Given the description of an element on the screen output the (x, y) to click on. 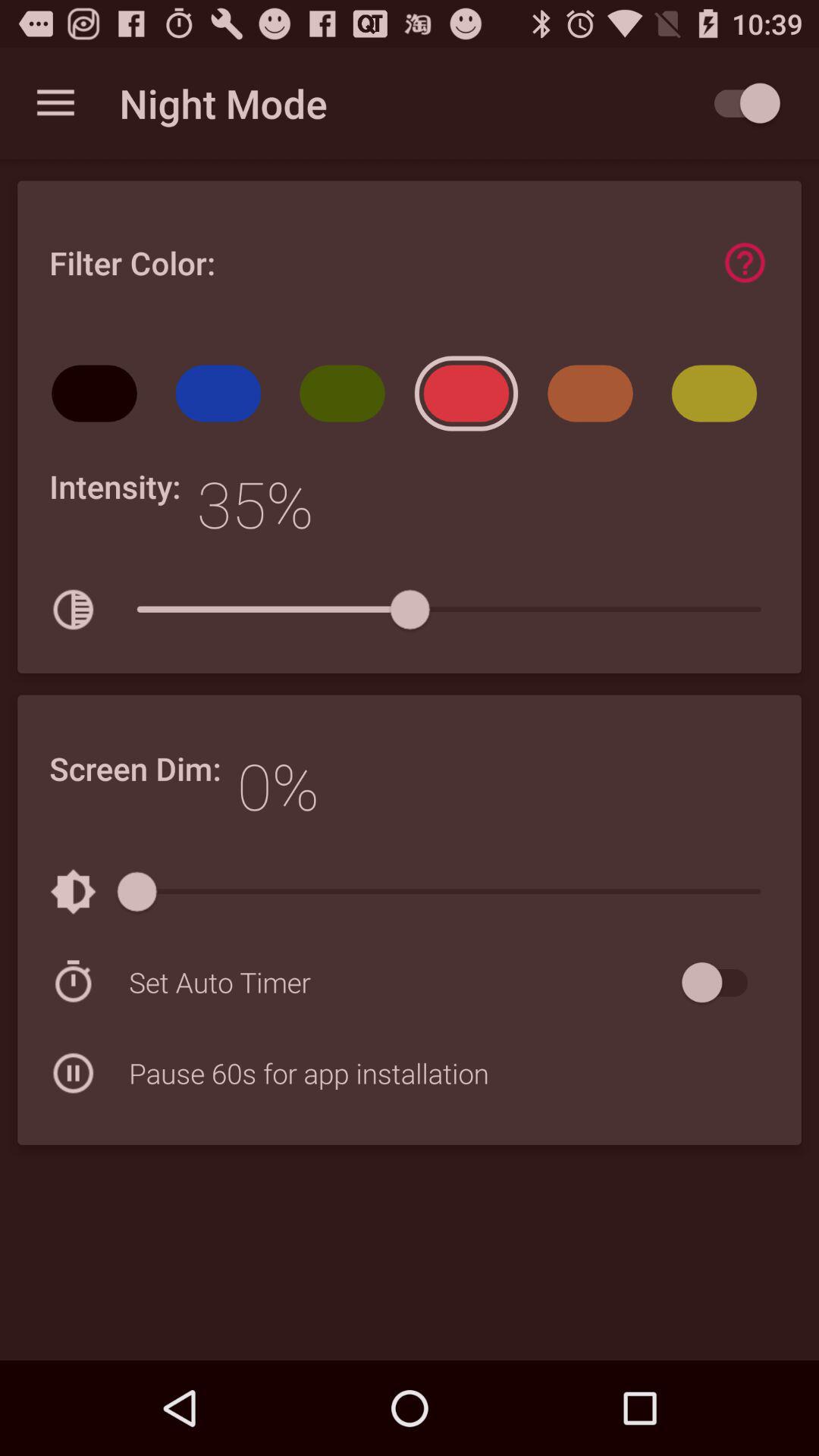
switch to night mode (739, 103)
